Given the description of an element on the screen output the (x, y) to click on. 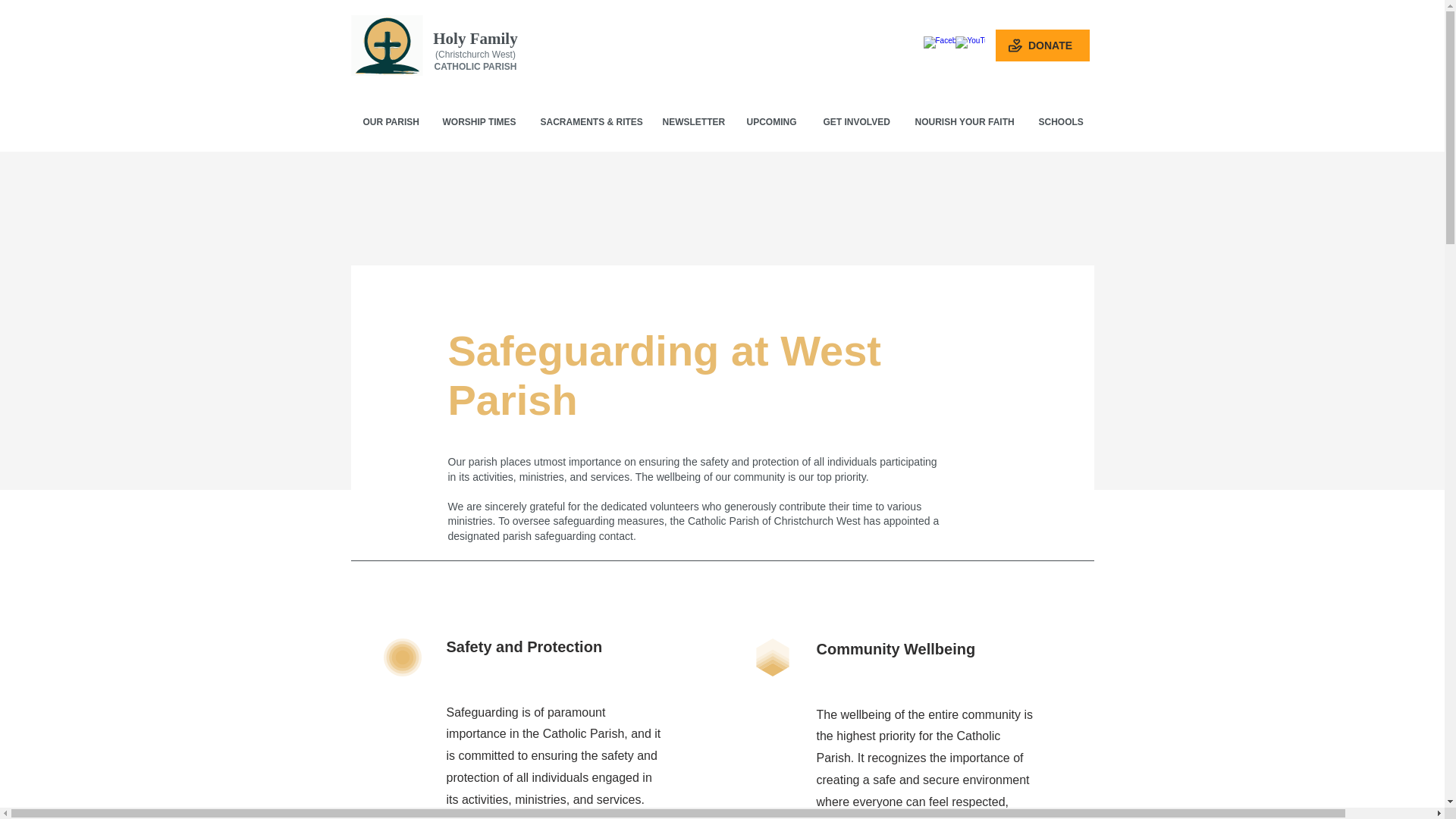
NEWSLETTER (692, 122)
NOURISH YOUR FAITH (965, 122)
DONATE (1041, 45)
SCHOOLS (1060, 122)
OUR PARISH (391, 122)
WORSHIP TIMES (479, 122)
Holy Family (474, 38)
CATHOLIC PARISH (474, 66)
UPCOMING (773, 122)
GET INVOLVED (856, 122)
